Given the description of an element on the screen output the (x, y) to click on. 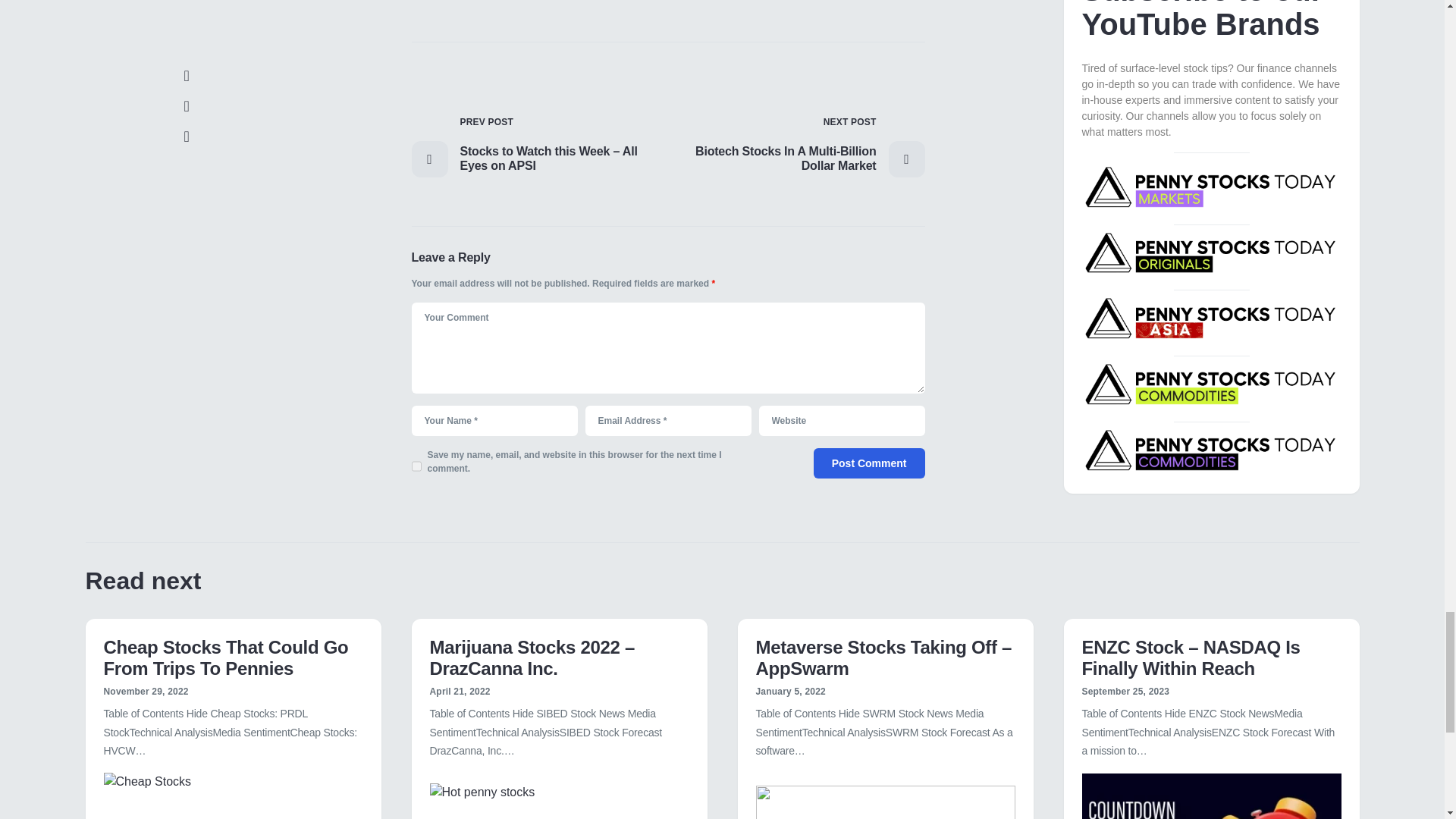
Post Comment (868, 462)
